Given the description of an element on the screen output the (x, y) to click on. 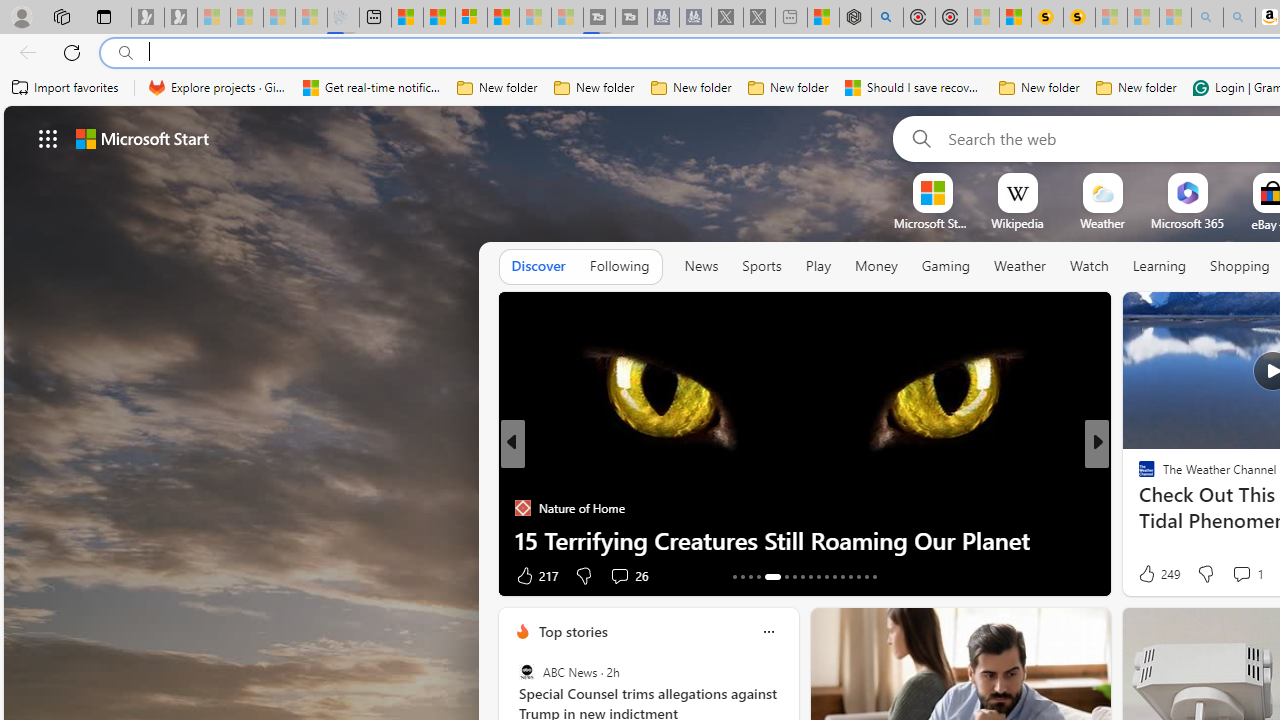
The Independent (1138, 475)
Amazon Echo Dot PNG - Search Images - Sleeping (1239, 17)
Overview (471, 17)
View comments 5 Comment (1234, 574)
View comments 26 Comment (628, 574)
